Given the description of an element on the screen output the (x, y) to click on. 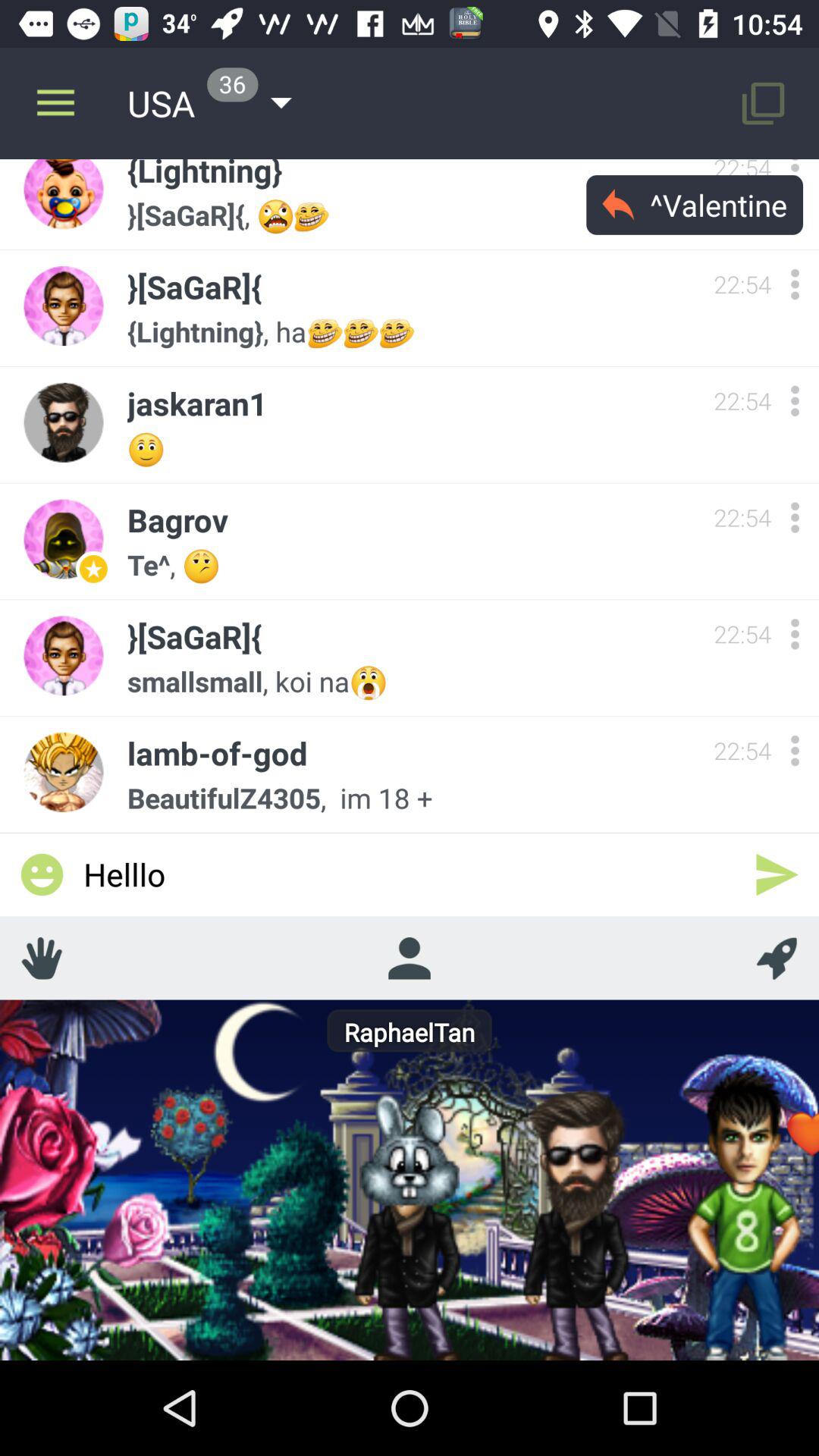
send button (777, 874)
